Given the description of an element on the screen output the (x, y) to click on. 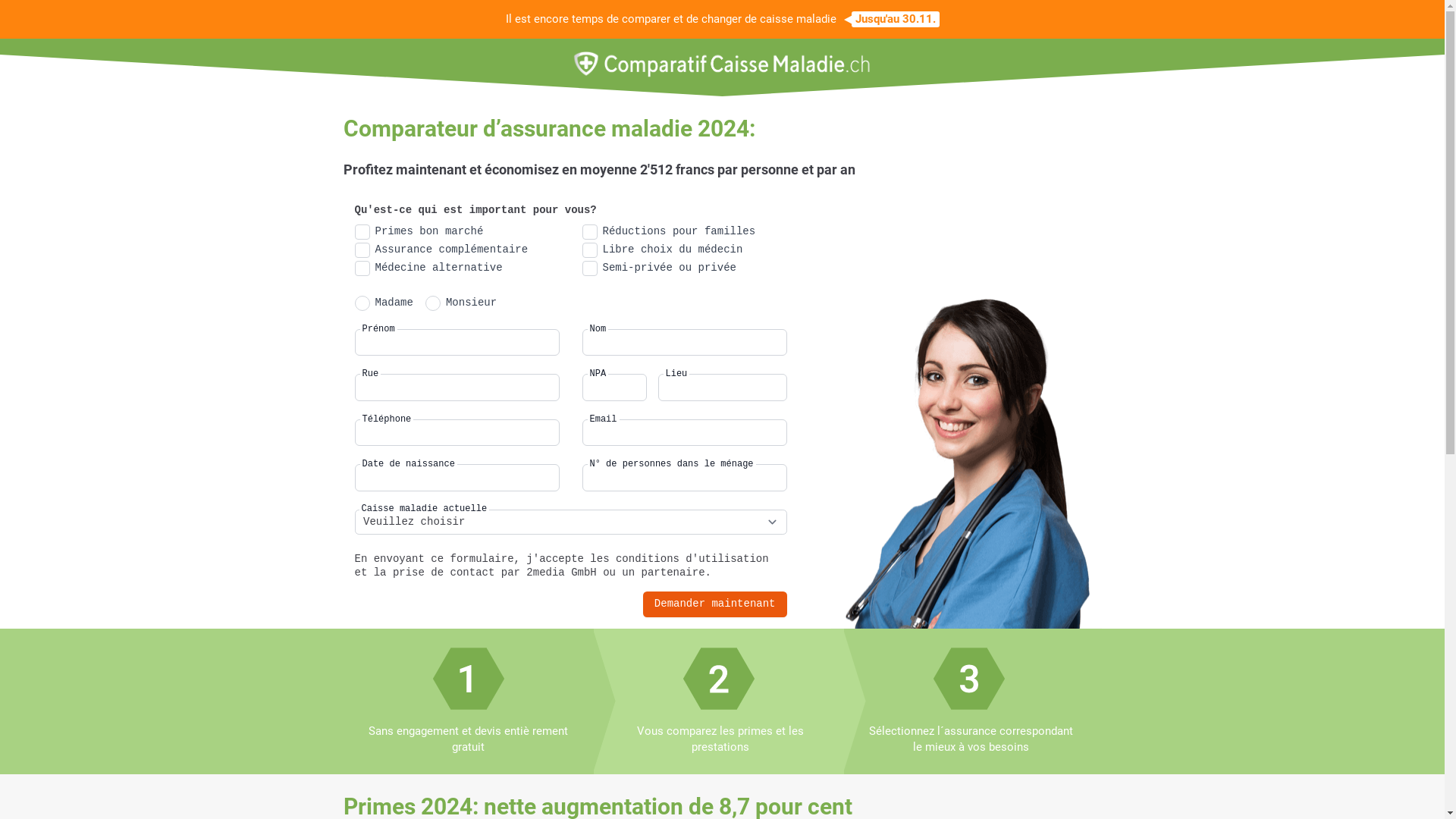
Demander maintenant Element type: text (715, 604)
